Given the description of an element on the screen output the (x, y) to click on. 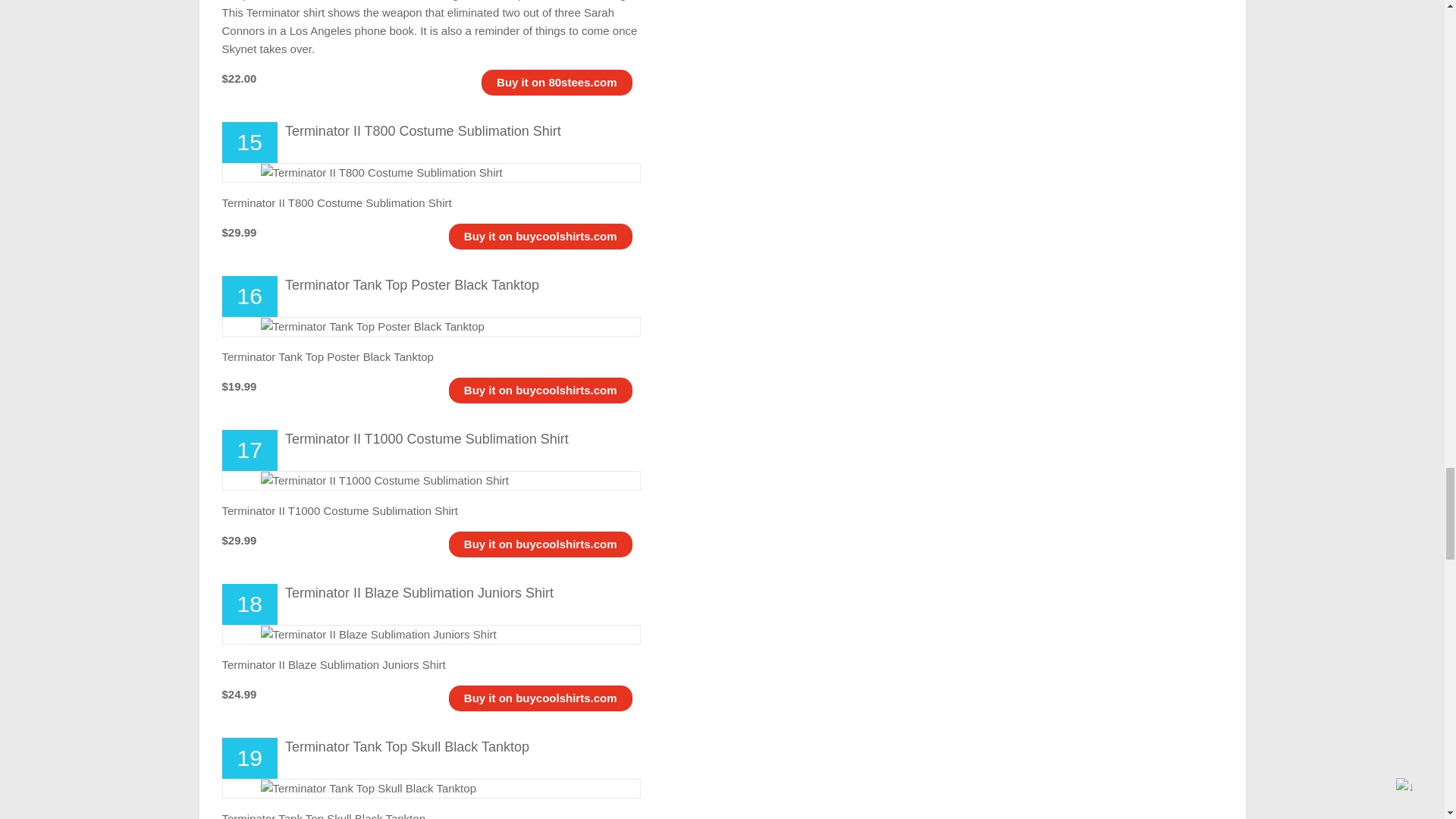
Buy it on buycoolshirts.com (540, 390)
Buy it on buycoolshirts.com (540, 697)
Buy it on 80stees.com (555, 82)
Buy it on buycoolshirts.com (540, 236)
Buy it on buycoolshirts.com (540, 543)
